Given the description of an element on the screen output the (x, y) to click on. 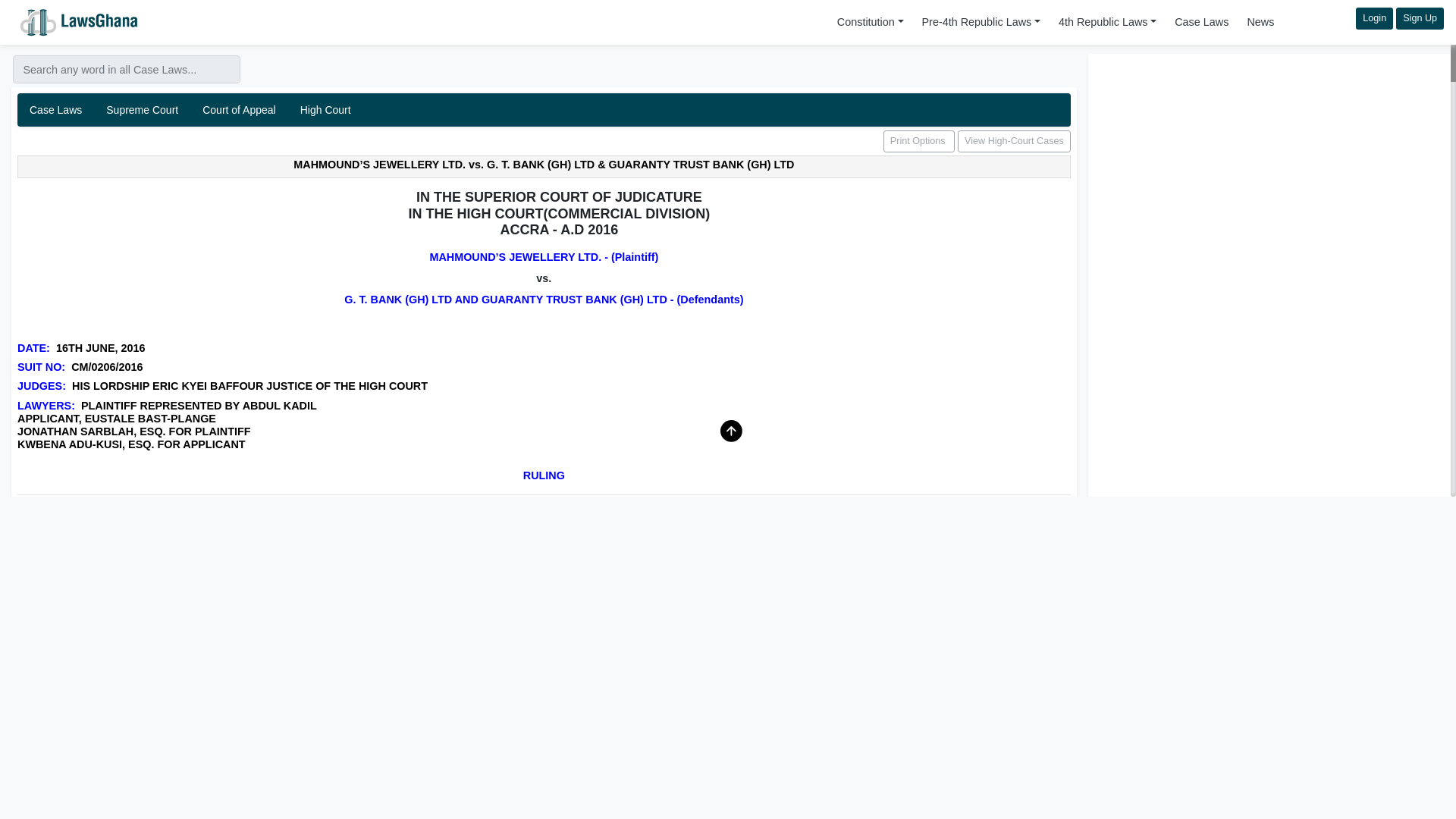
4th Republic Laws (1106, 21)
Sign Up (1420, 18)
Supreme Court (142, 109)
Login (1374, 18)
View High-Court Cases (1014, 141)
Case Laws (1201, 21)
Court of Appeal (239, 109)
High Court (325, 109)
News (543, 109)
